Given the description of an element on the screen output the (x, y) to click on. 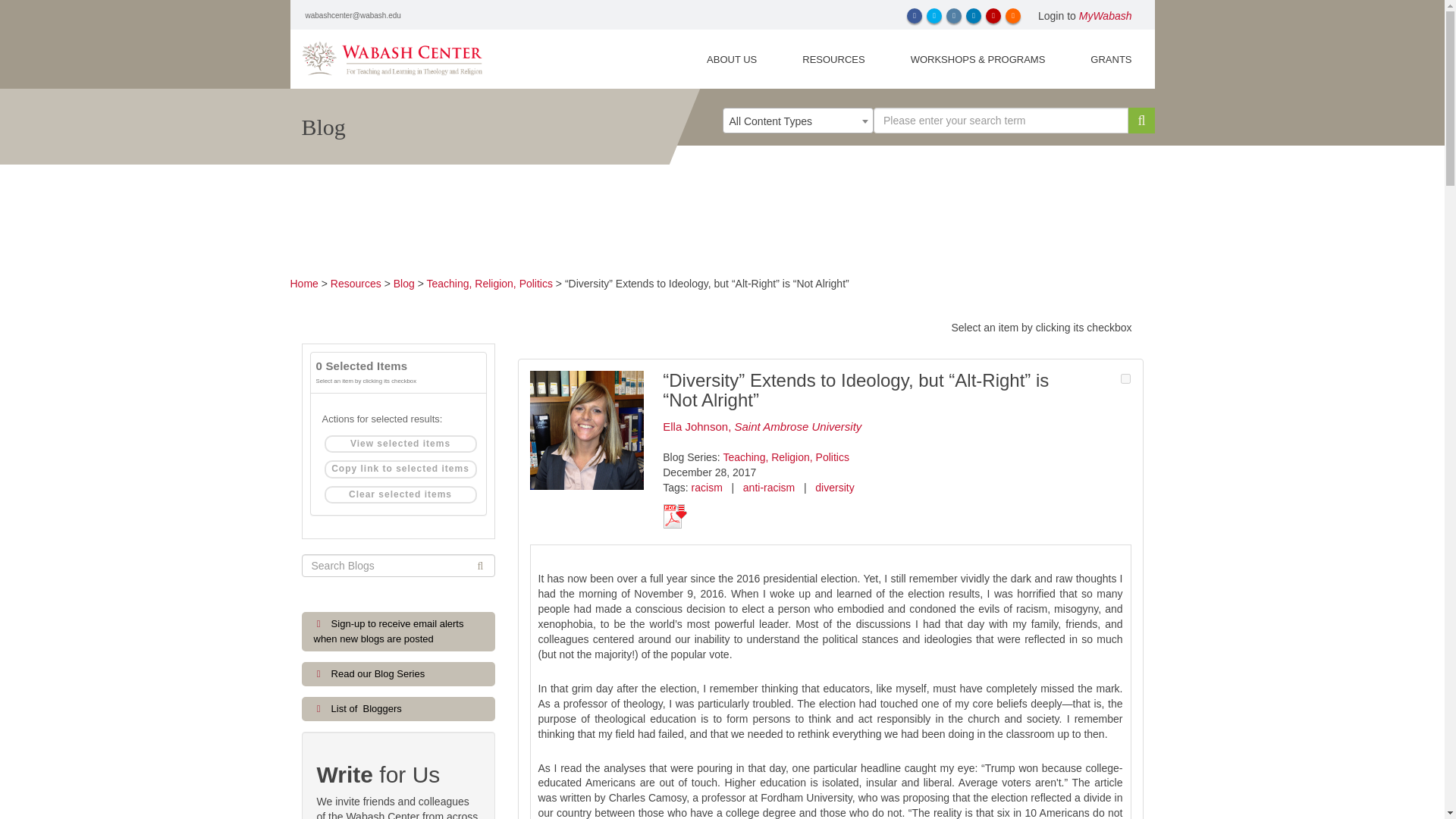
Youtube (993, 15)
RSS (1013, 15)
MyWabash (1105, 15)
ABOUT US (731, 58)
212678 (1126, 378)
Linkedin (973, 15)
RESOURCES (833, 58)
Facebook (914, 15)
Twitter (934, 15)
Instagram (953, 15)
